Given the description of an element on the screen output the (x, y) to click on. 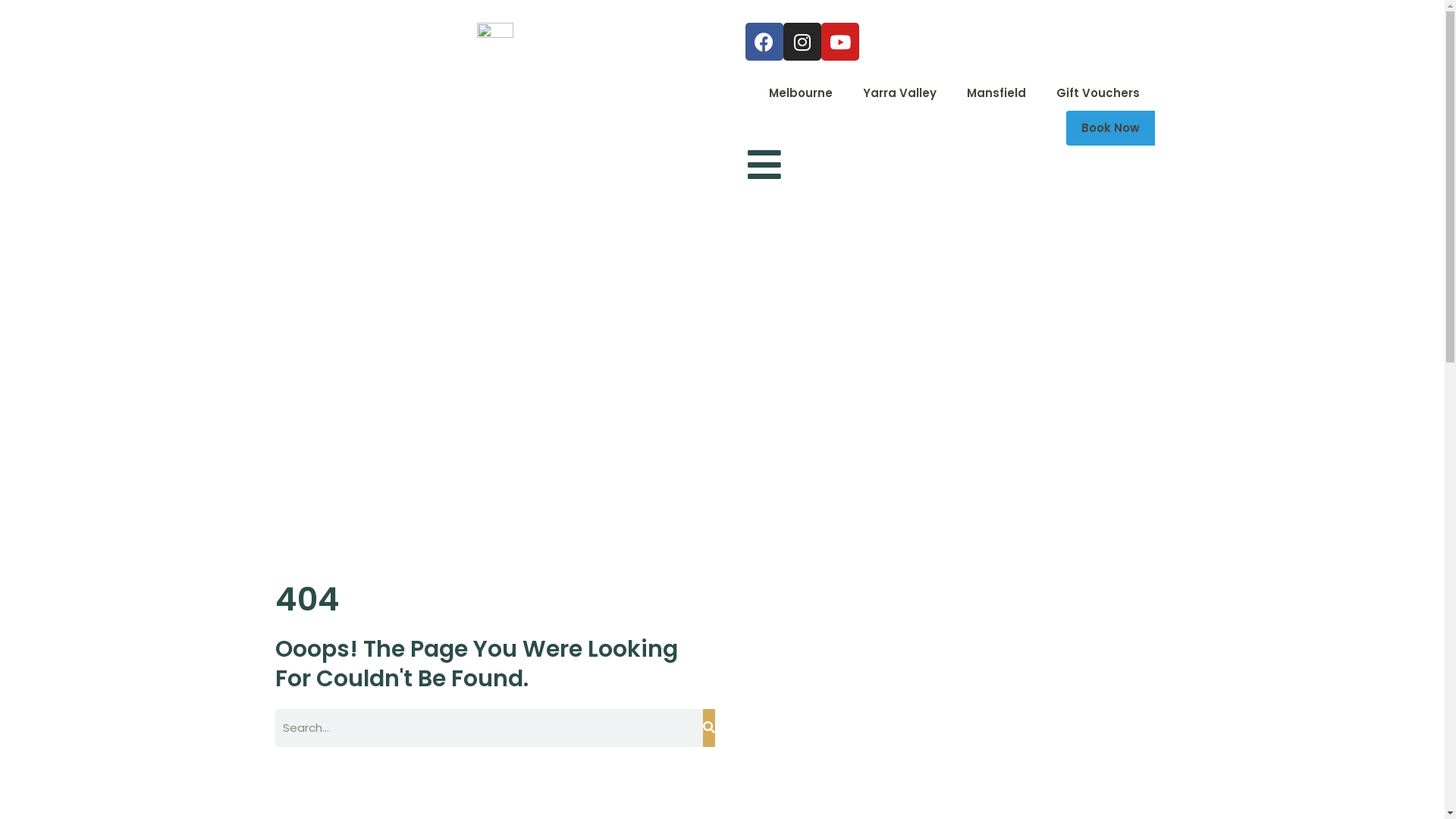
Book Now Element type: text (1110, 127)
Mansfield Element type: text (995, 92)
Gift Vouchers Element type: text (1097, 92)
Melbourne Element type: text (800, 92)
Yarra Valley Element type: text (899, 92)
